Given the description of an element on the screen output the (x, y) to click on. 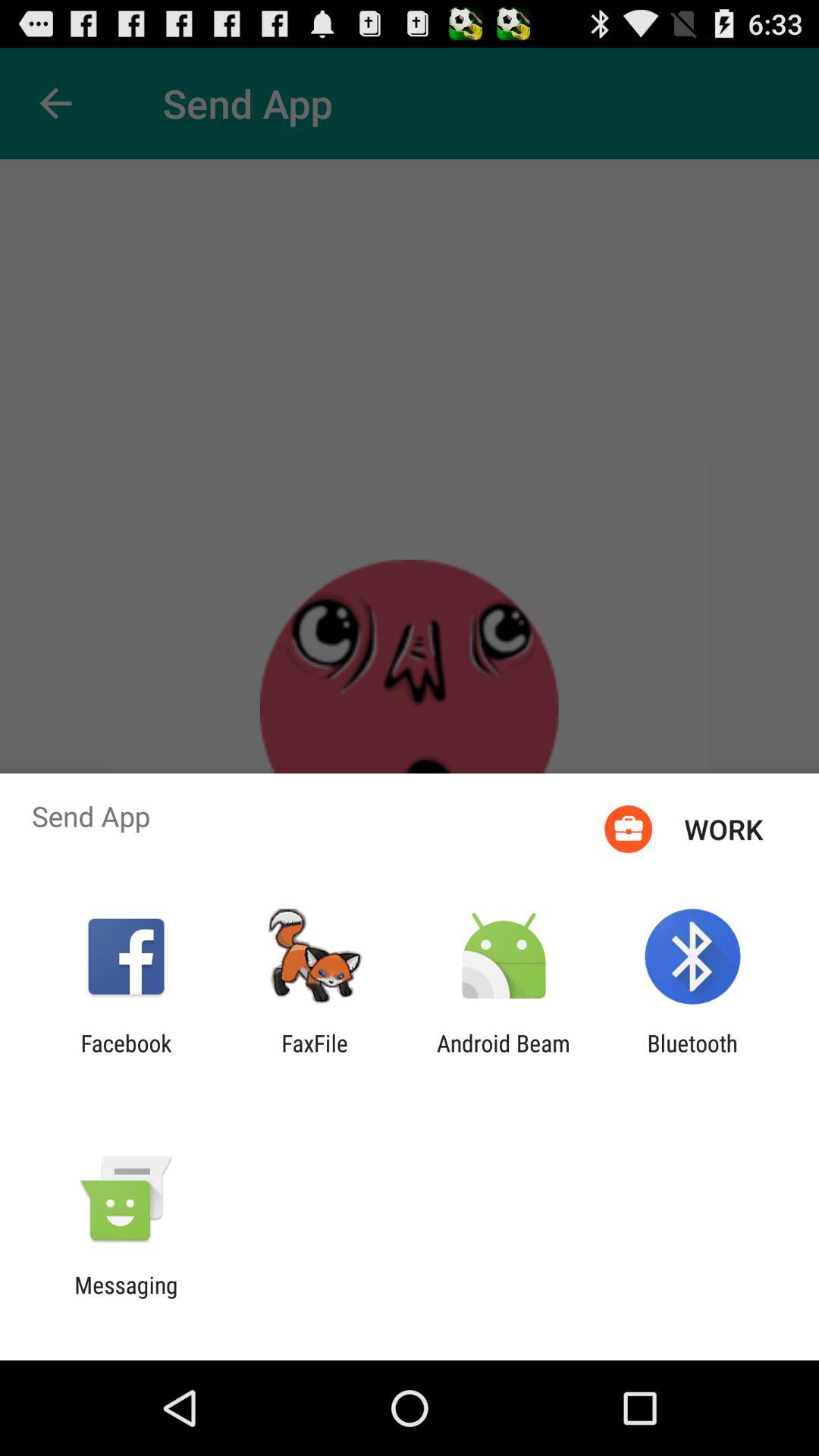
turn on the app next to faxfile item (125, 1056)
